Given the description of an element on the screen output the (x, y) to click on. 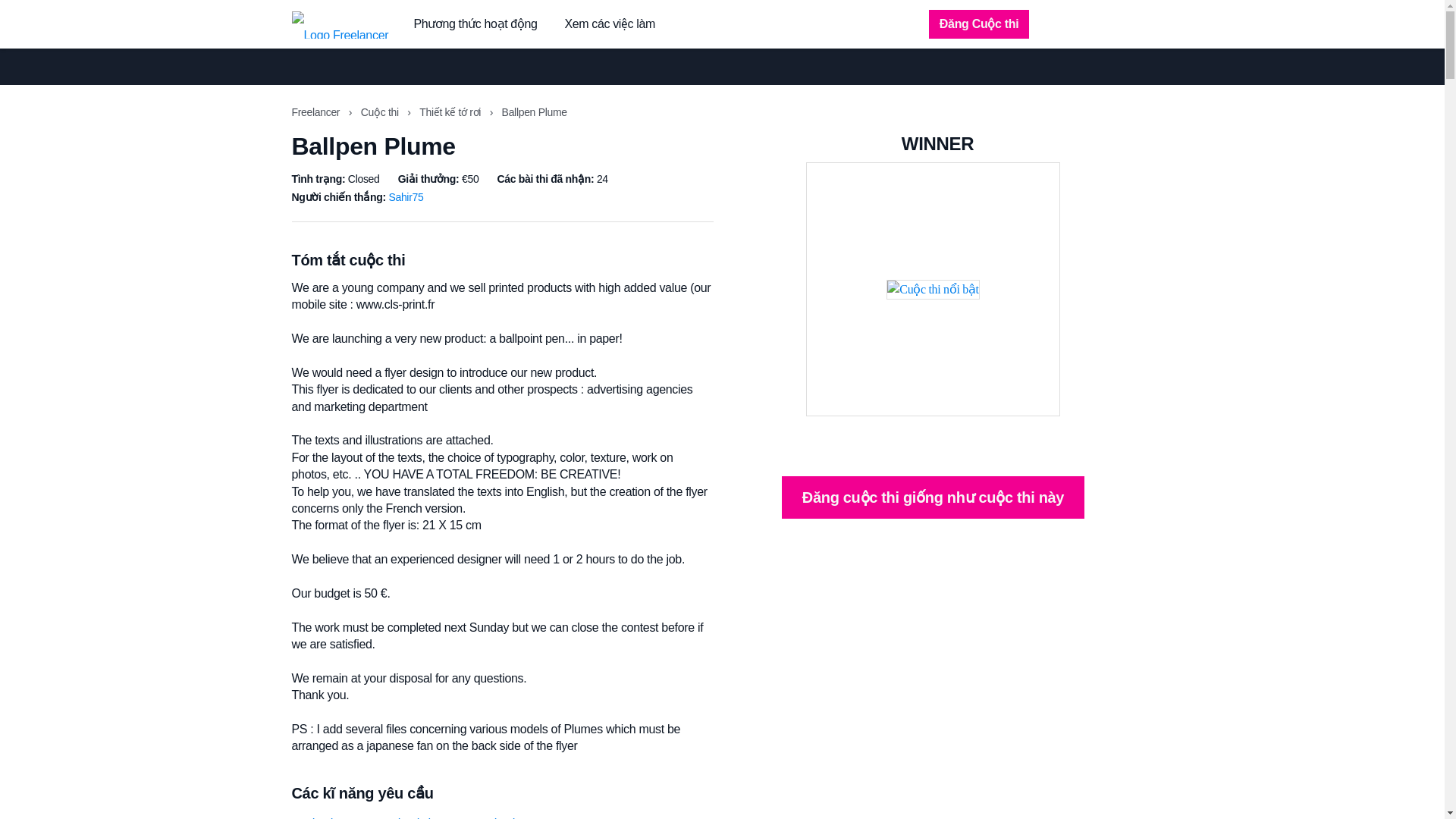
Sahir75 (405, 196)
Photoshop (583, 818)
Freelancer (316, 111)
